Given the description of an element on the screen output the (x, y) to click on. 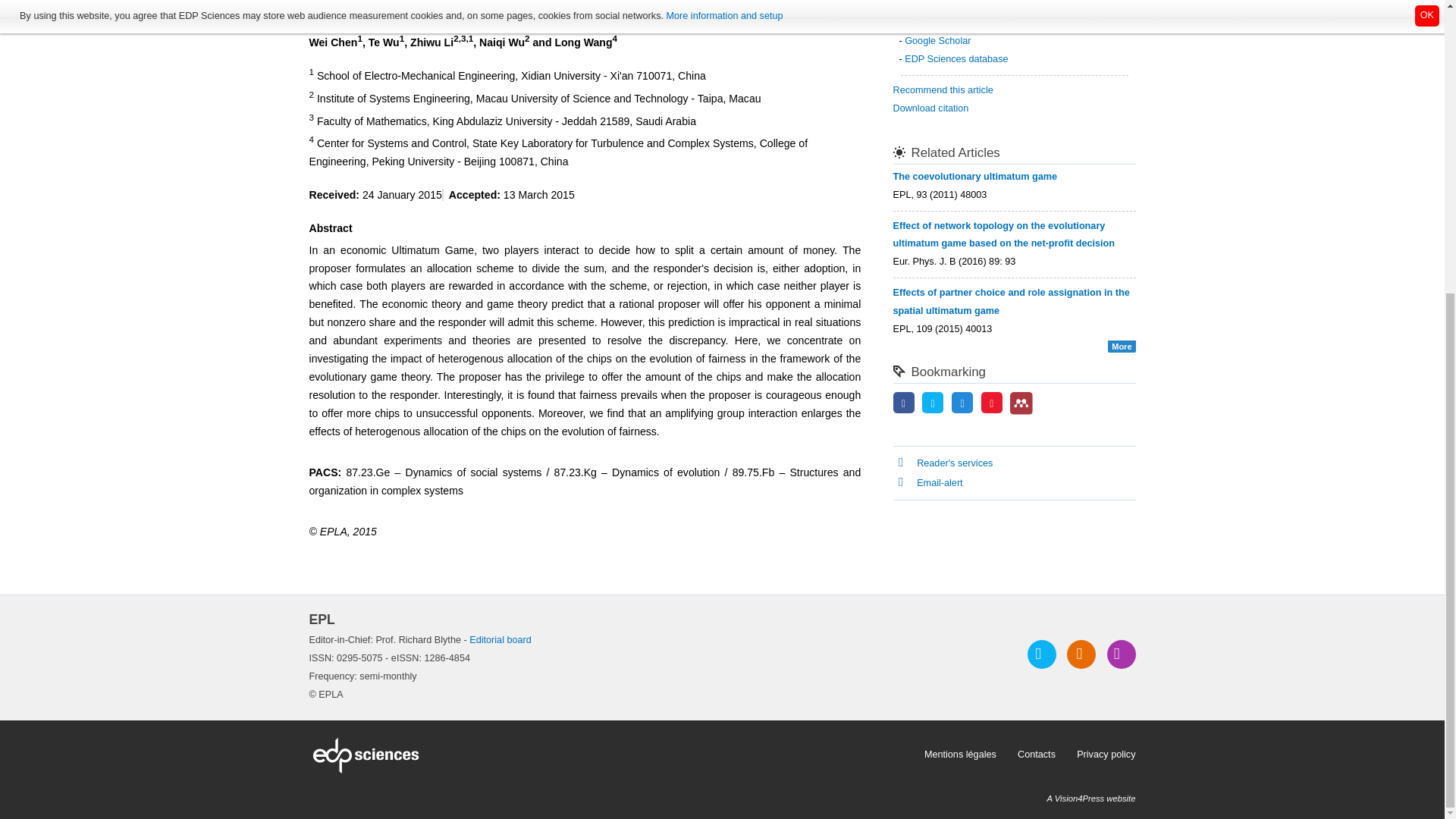
Share on Facebook (903, 403)
Share on Twitter (932, 403)
Share on LinkedIn (962, 403)
EDP Sciences website (611, 754)
Follow us on Twitter (1042, 654)
Add this article to your Mendeley library (1021, 411)
Mendeley (1021, 403)
Register to the journal email alert (1120, 654)
Access our RSS feeds (1081, 654)
Share on Sina Weibo (992, 403)
